Given the description of an element on the screen output the (x, y) to click on. 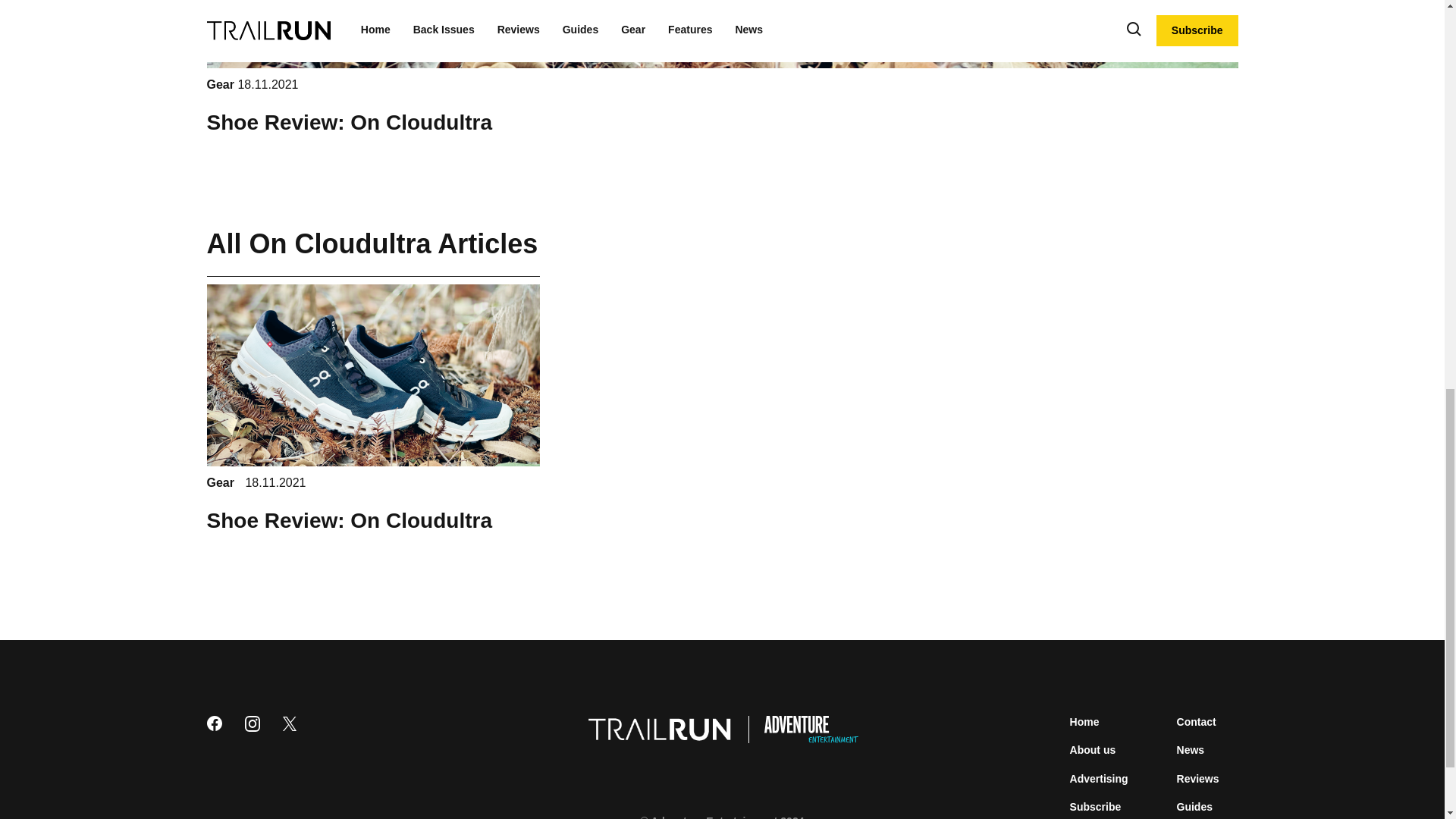
Home (1084, 721)
Shoe Review: On Cloudultra (349, 520)
About us (1093, 749)
Advertising (1099, 778)
Contact (1195, 721)
News (1190, 749)
Subscribe (1095, 806)
Guides (1194, 806)
Gear (221, 481)
Reviews (1198, 778)
Gear (221, 83)
Shoe Review: On Cloudultra (349, 122)
